Given the description of an element on the screen output the (x, y) to click on. 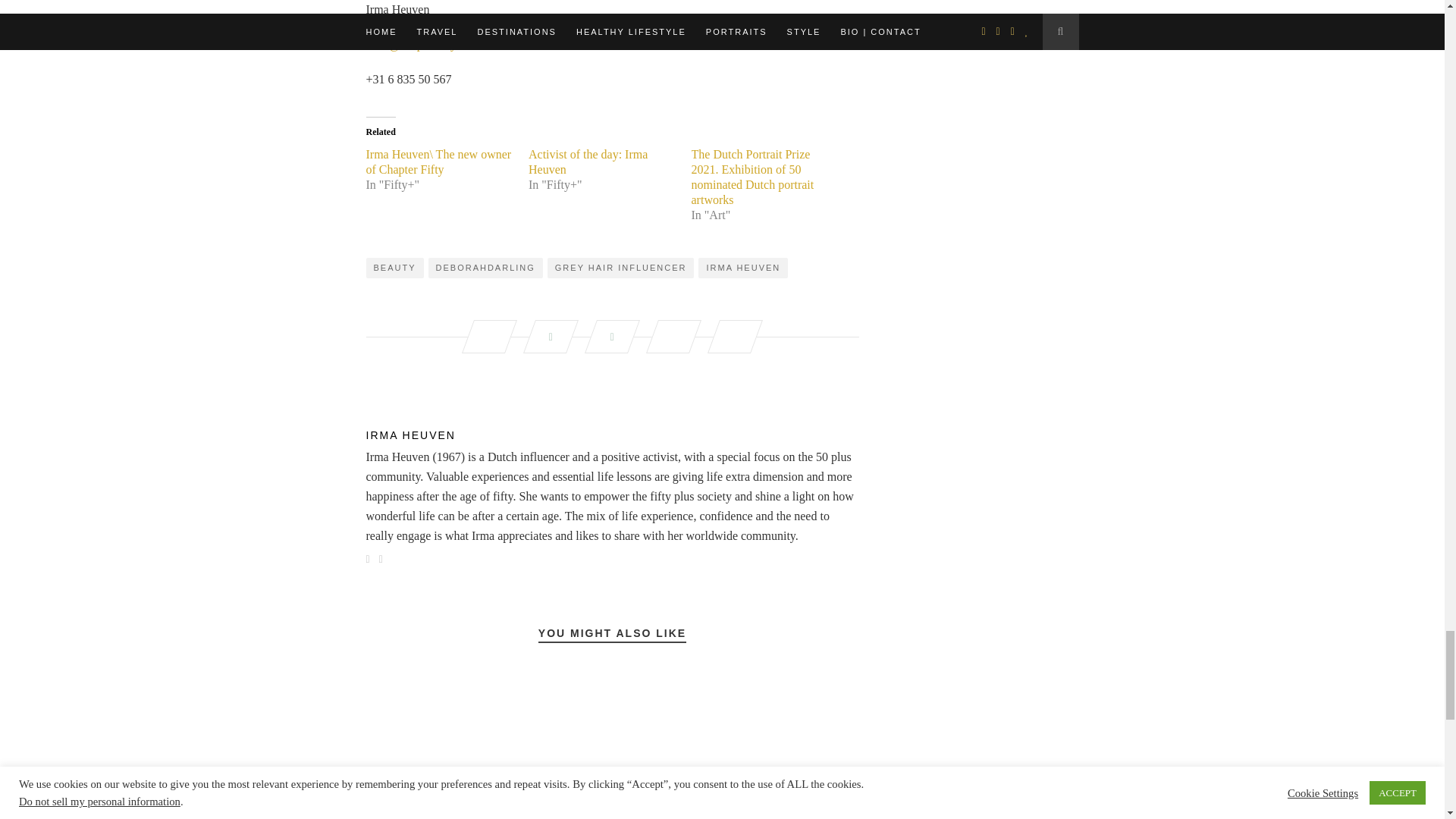
Activist of the day: Irma Heuven (587, 162)
